Given the description of an element on the screen output the (x, y) to click on. 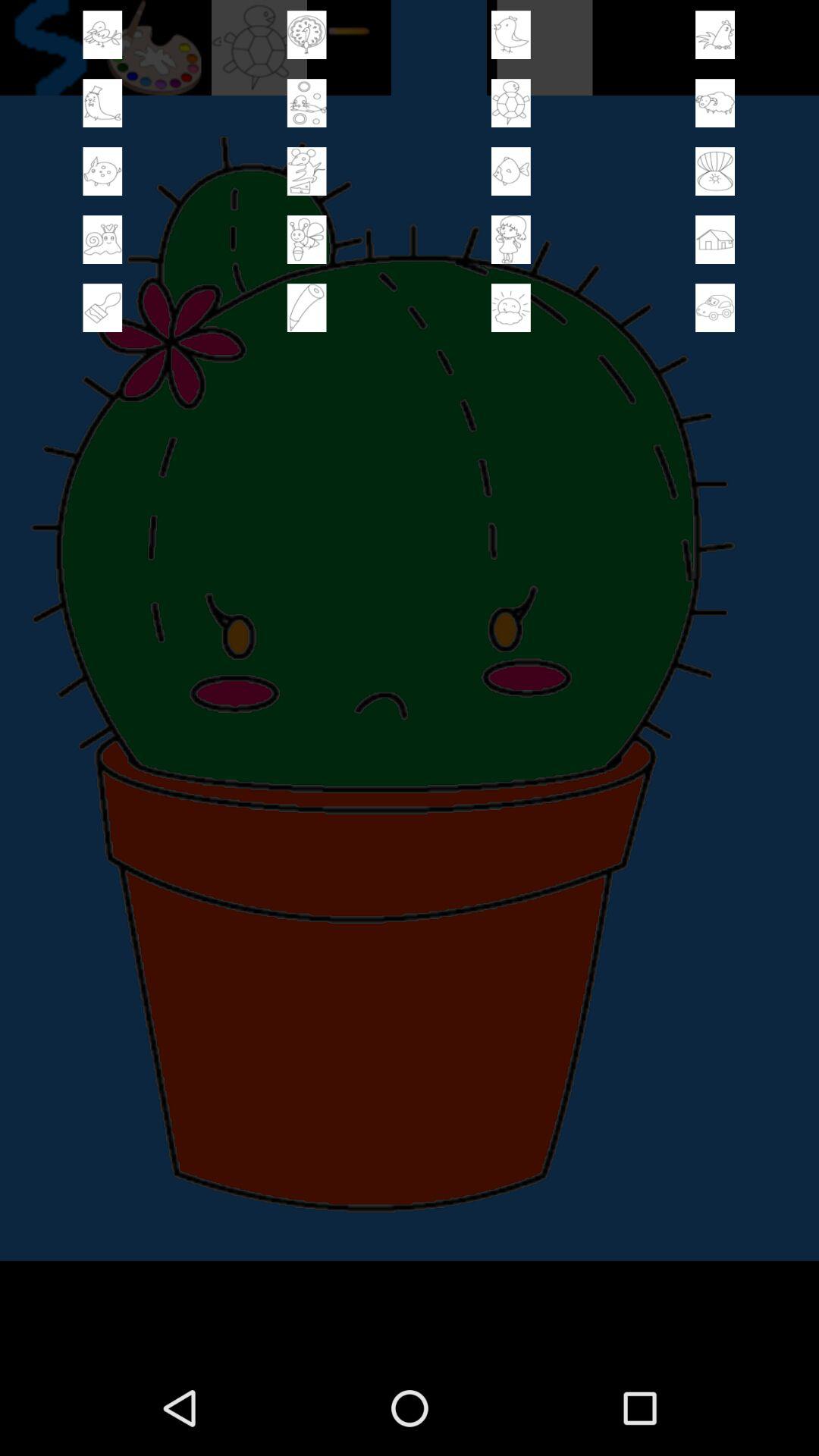
check mark box (715, 171)
